Given the description of an element on the screen output the (x, y) to click on. 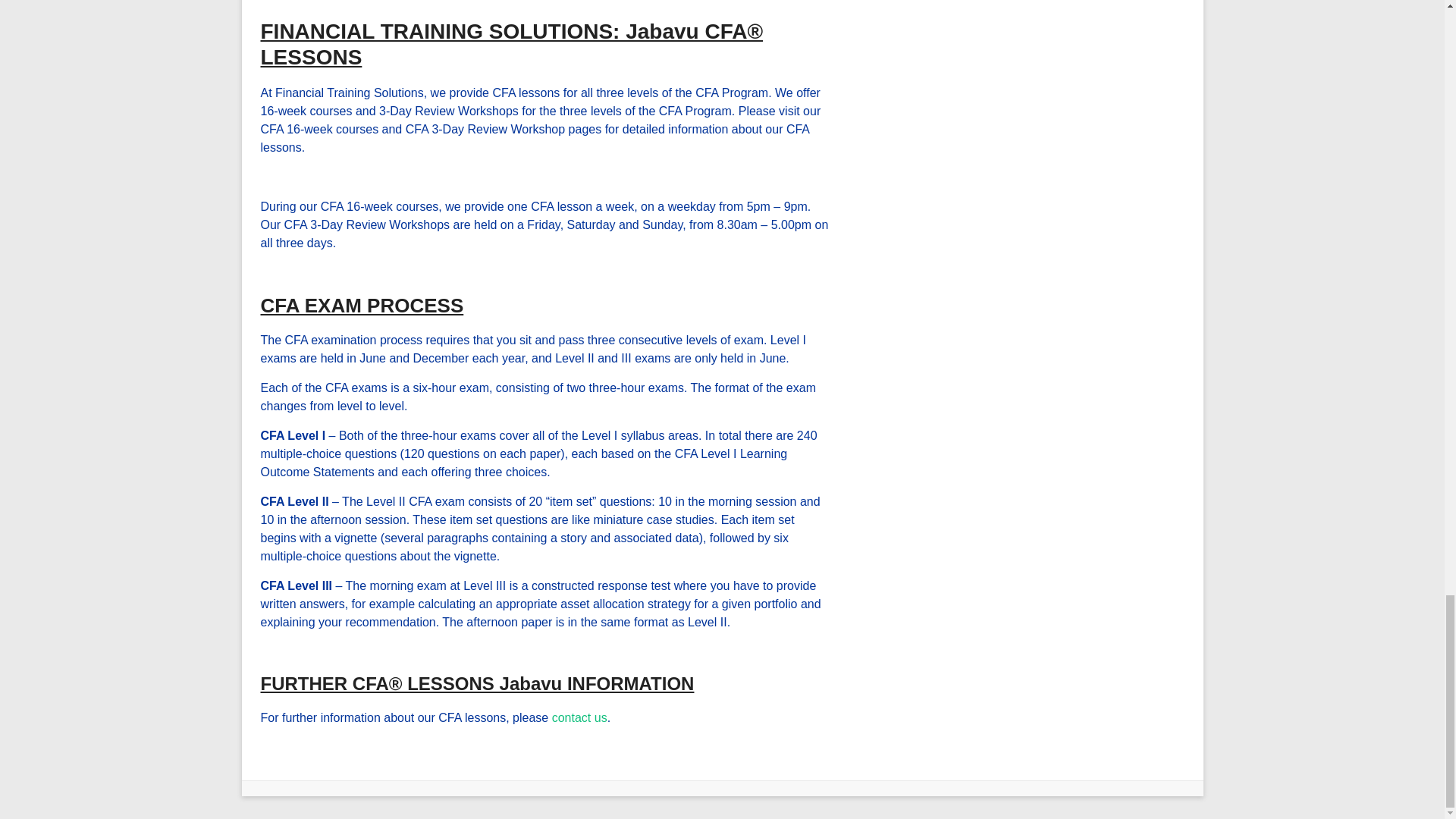
contact us (579, 717)
